Given the description of an element on the screen output the (x, y) to click on. 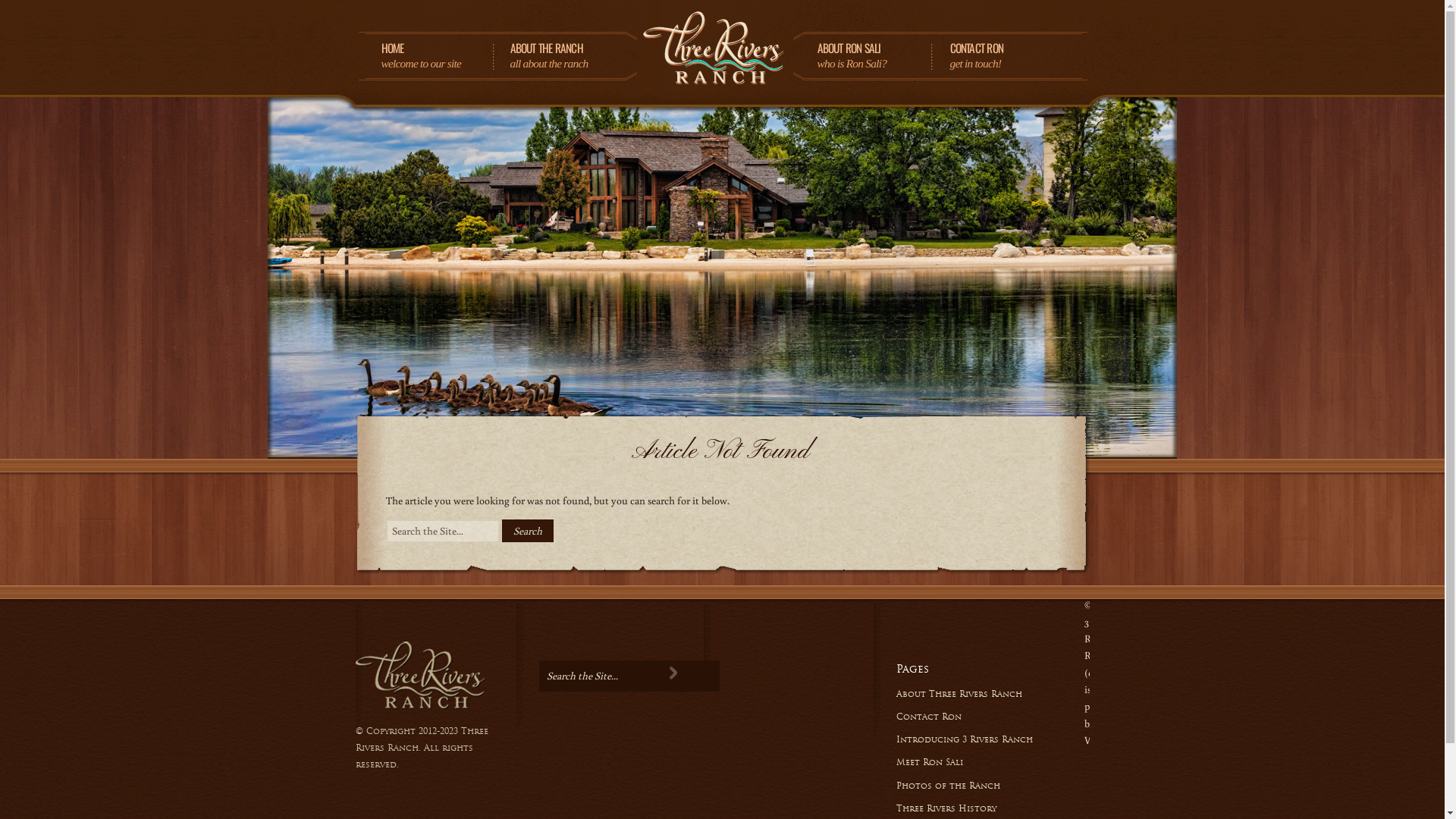
Contact Ron Element type: text (928, 716)
ABOUT THE RANCH
all about the ranch Element type: text (566, 55)
Meet Ron Sali Element type: text (929, 761)
ABOUT RON SALI
who is Ron Sali? Element type: text (868, 55)
Introducing 3 Rivers Ranch Element type: text (964, 739)
About Three Rivers Ranch Element type: text (959, 693)
Photos of the Ranch Element type: text (948, 784)
Three Rivers History Element type: text (946, 808)
HOME
welcome to our site Element type: text (437, 55)
WordPress Element type: text (1107, 739)
Search Element type: text (527, 530)
Search Element type: text (672, 672)
CONTACT RON
get in touch! Element type: text (1000, 55)
